Given the description of an element on the screen output the (x, y) to click on. 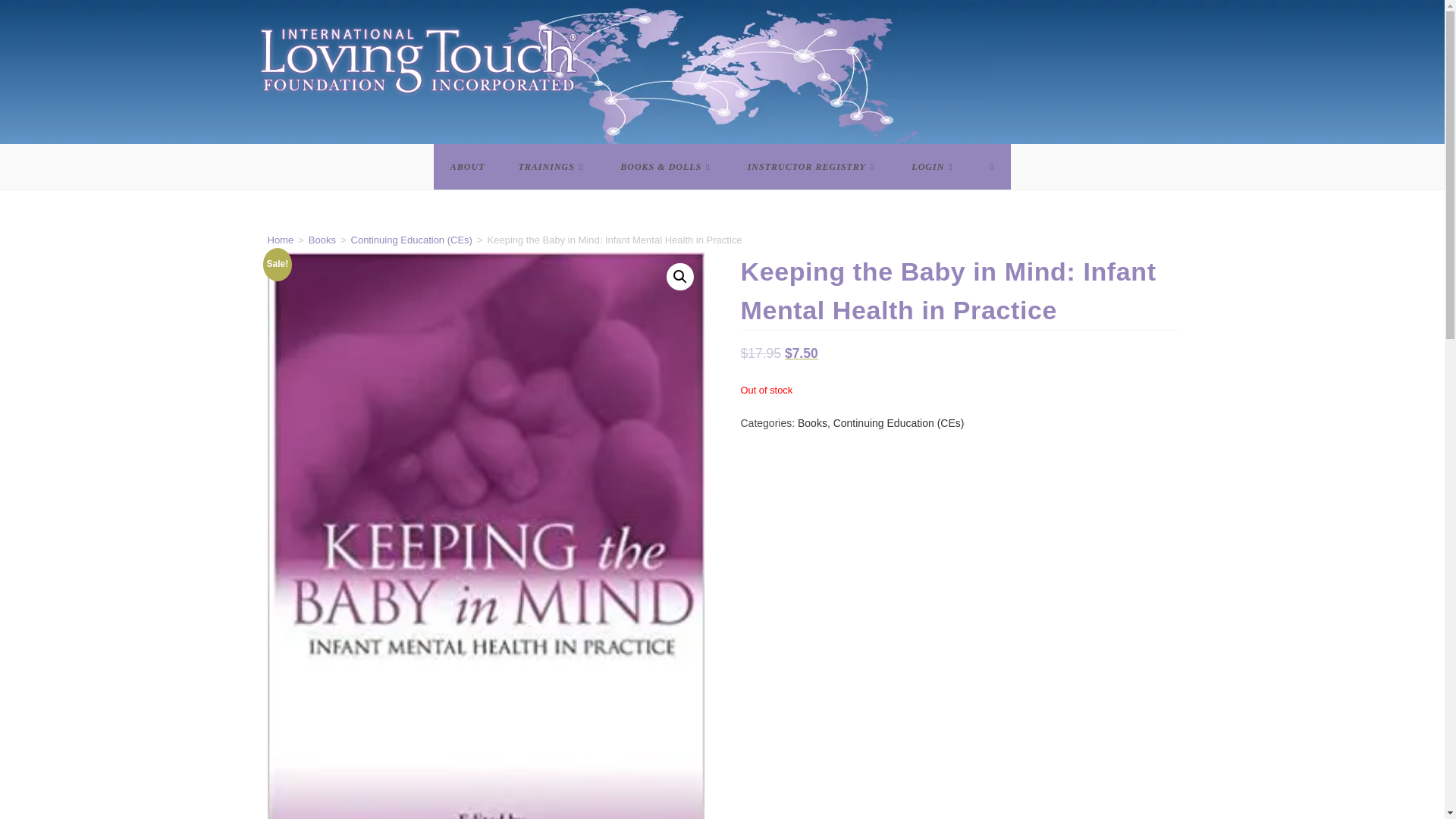
INSTRUCTOR REGISTRY (812, 166)
ABOUT (467, 166)
Books (322, 239)
TOGGLE WEBSITE SEARCH (992, 166)
LOGIN (933, 166)
TRAININGS (553, 166)
Home (280, 239)
